Given the description of an element on the screen output the (x, y) to click on. 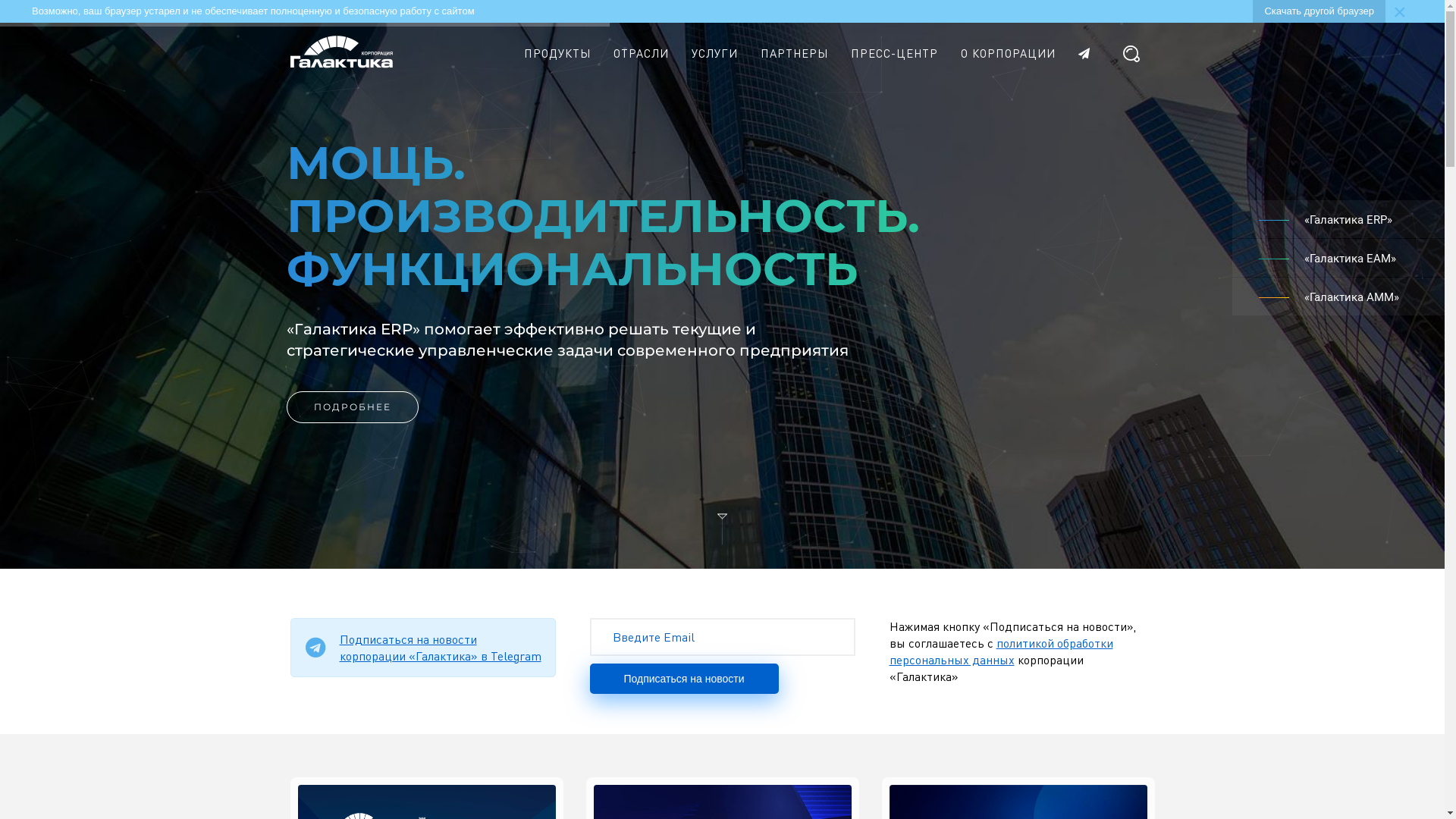
  Element type: text (1089, 53)
